Given the description of an element on the screen output the (x, y) to click on. 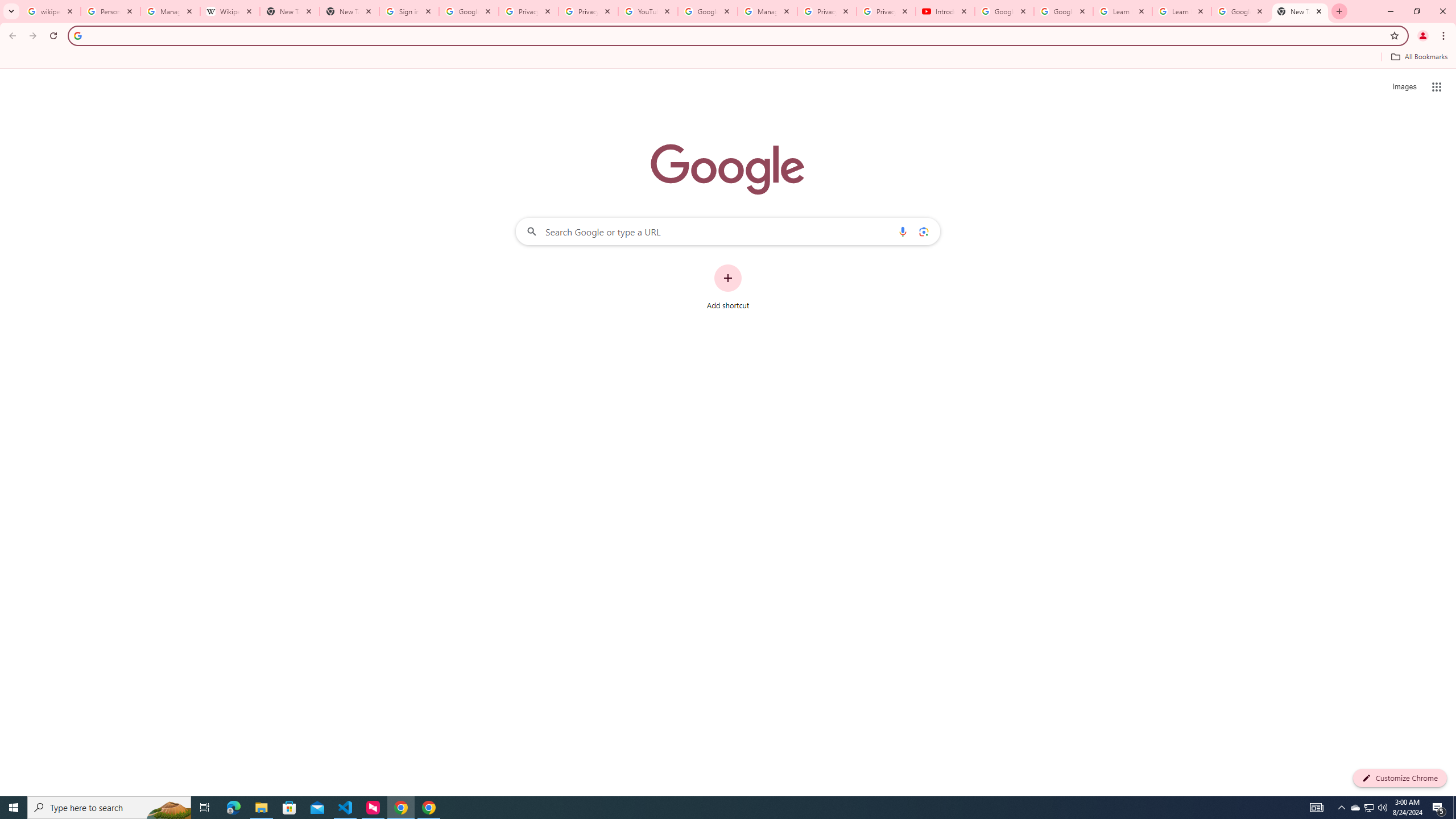
Google Account Help (707, 11)
Search Google or type a URL (727, 230)
Search by voice (902, 230)
All Bookmarks (1418, 56)
Bookmarks (728, 58)
Manage your Location History - Google Search Help (170, 11)
New Tab (349, 11)
Wikipedia:Edit requests - Wikipedia (229, 11)
